Given the description of an element on the screen output the (x, y) to click on. 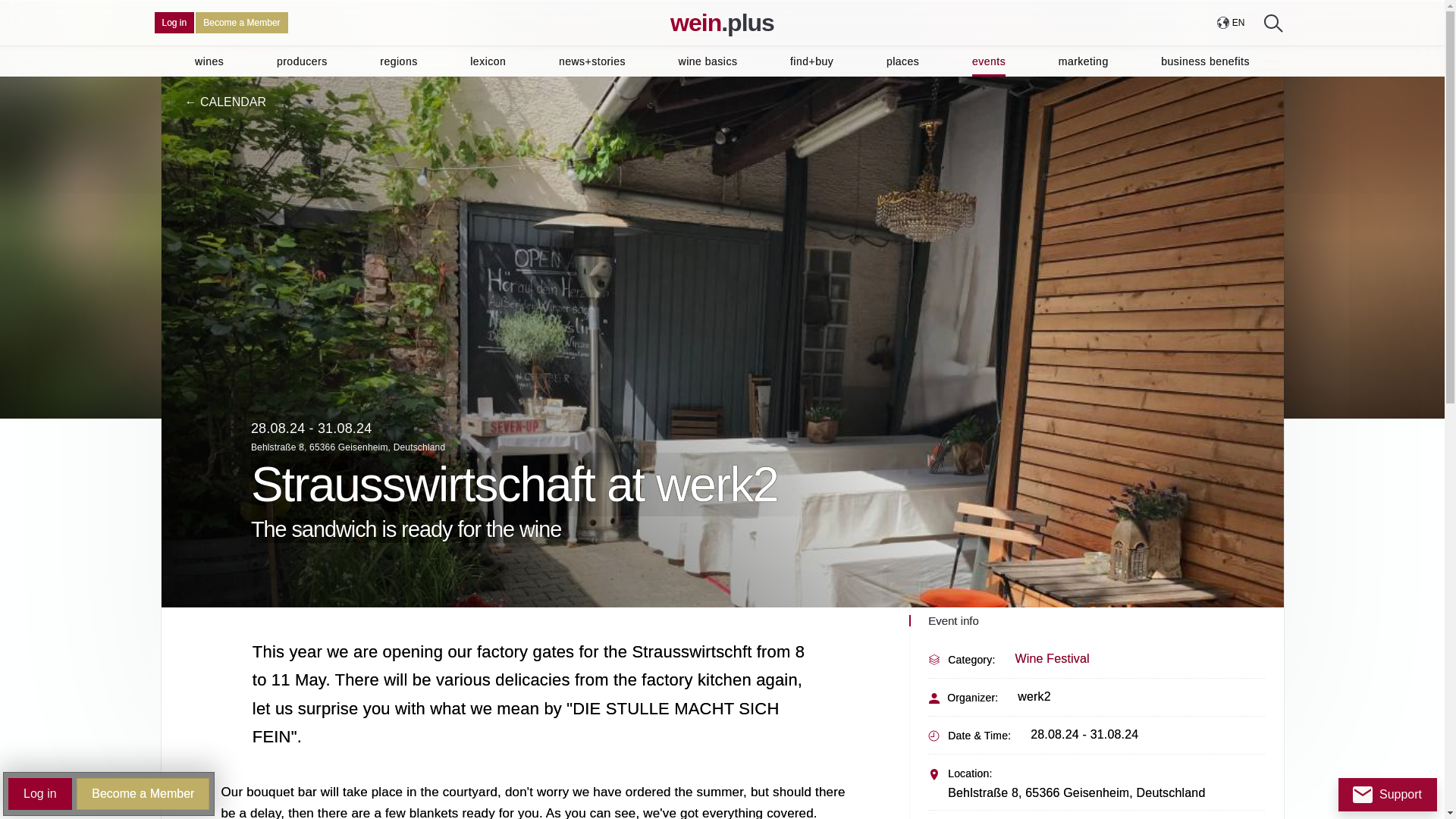
wine basics (708, 60)
wein.plus (721, 22)
business benefits (1204, 60)
Country (1230, 22)
wein.plus (721, 22)
regions (398, 60)
Log in (174, 22)
wines (209, 60)
English Language (1237, 22)
EN (1230, 22)
marketing (1083, 60)
events (989, 60)
Become a Member (240, 22)
places (902, 60)
producers (301, 60)
